Given the description of an element on the screen output the (x, y) to click on. 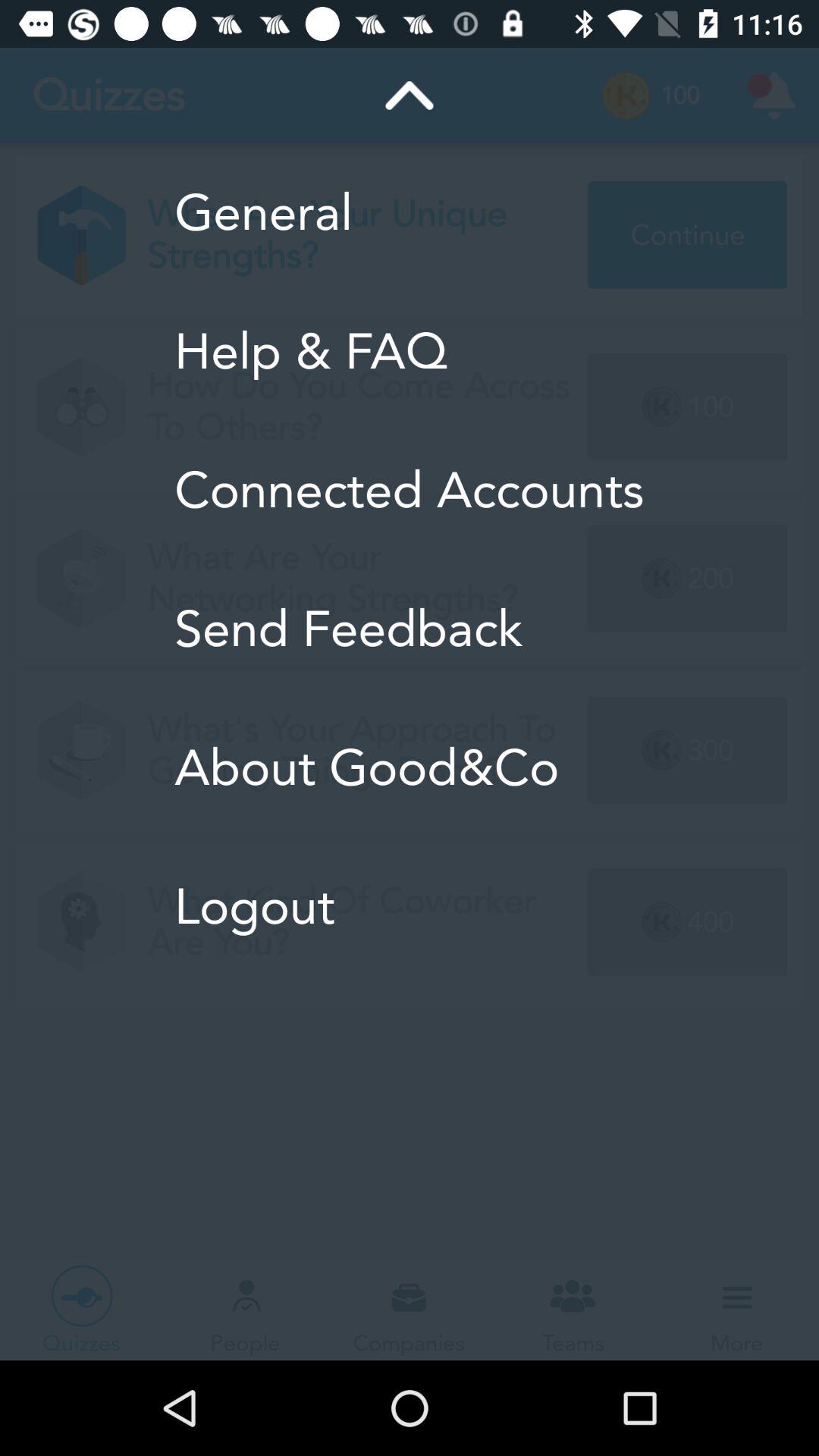
select the logout item (408, 906)
